Given the description of an element on the screen output the (x, y) to click on. 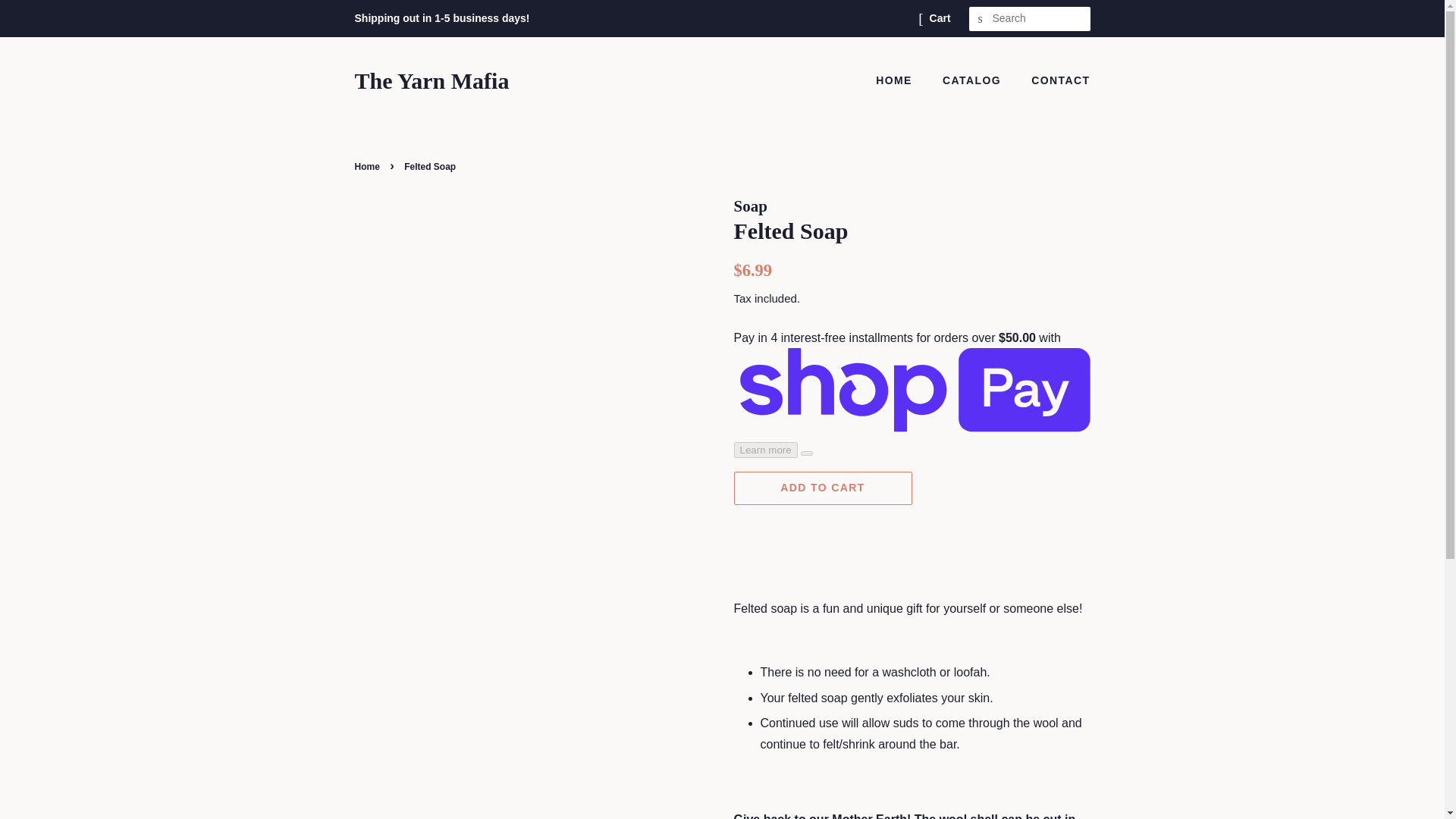
ADD TO CART (822, 488)
HOME (901, 80)
CATALOG (973, 80)
CONTACT (1054, 80)
Cart (940, 18)
SEARCH (980, 18)
Home (369, 166)
The Yarn Mafia (432, 81)
Back to the frontpage (369, 166)
